Given the description of an element on the screen output the (x, y) to click on. 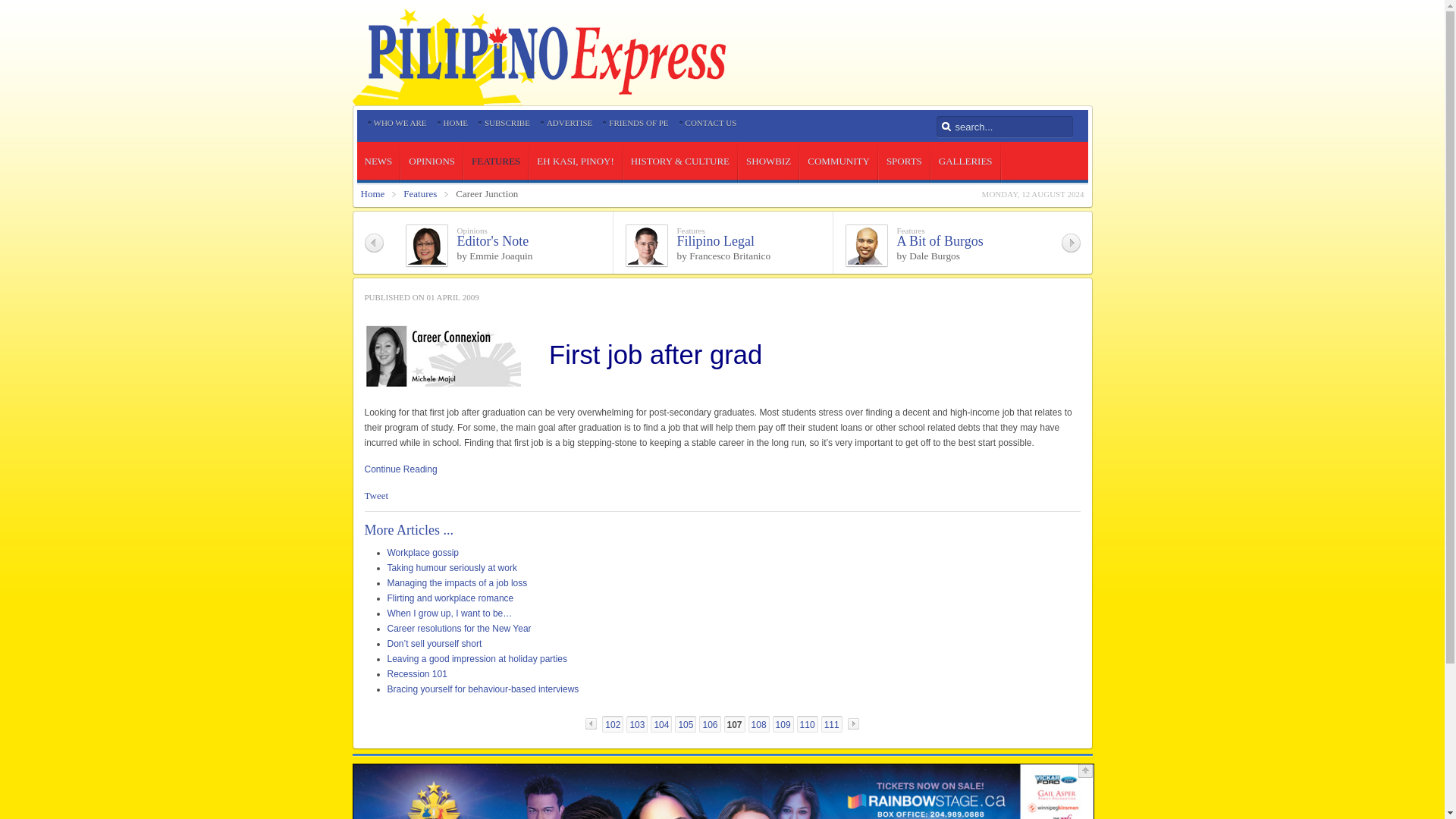
105 (685, 723)
111 (832, 723)
OPINIONS (432, 160)
ADVERTISE (569, 122)
FEATURES (495, 160)
EH KASI, PINOY! (575, 160)
WHO WE ARE (399, 122)
102 (612, 723)
HOME (455, 122)
Reset (3, 2)
